Given the description of an element on the screen output the (x, y) to click on. 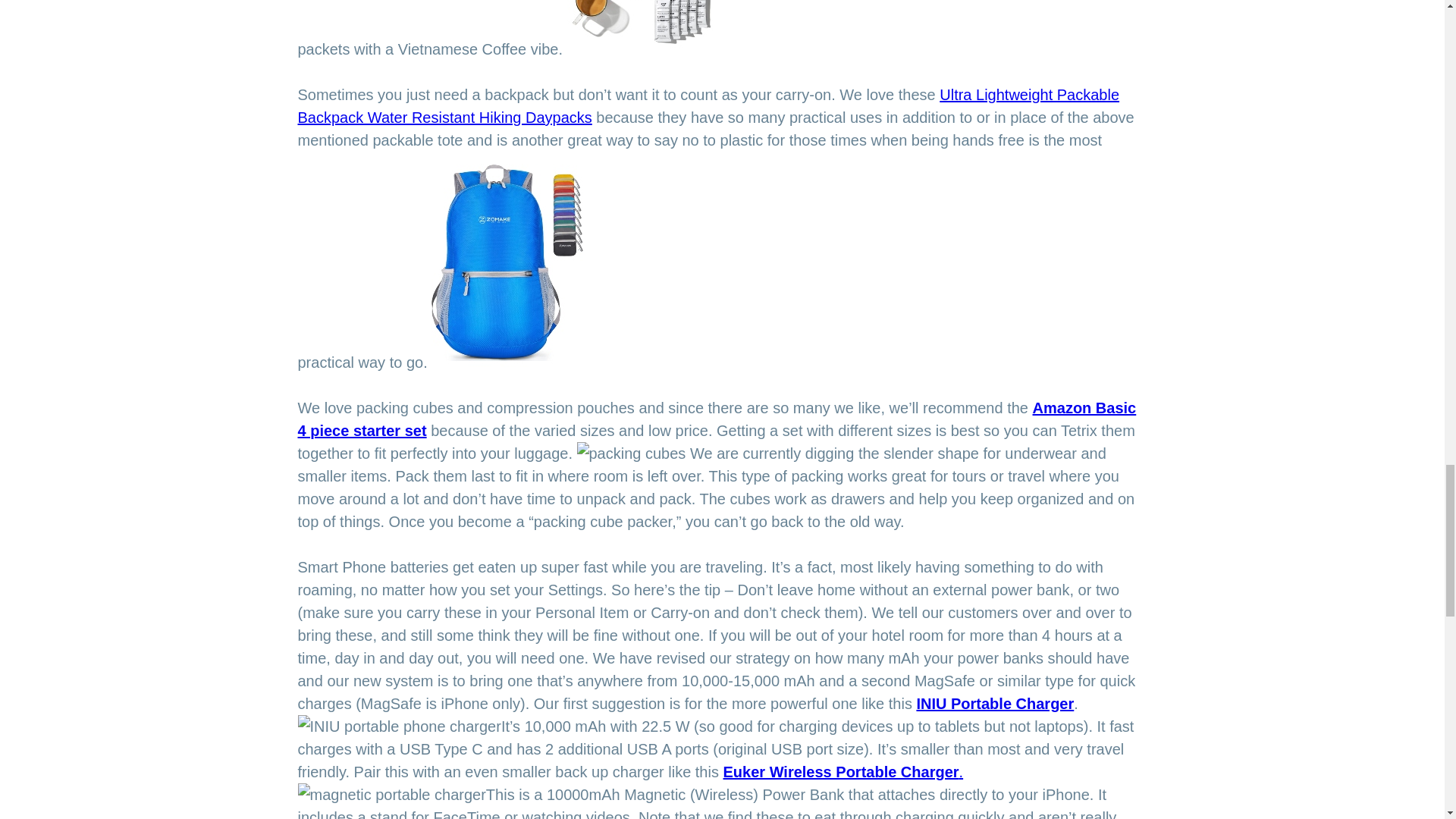
Amazon Basic 4 piece starter set (716, 418)
INIU Portable Charger (994, 703)
Euker Wireless Portable Charger. (843, 771)
